Given the description of an element on the screen output the (x, y) to click on. 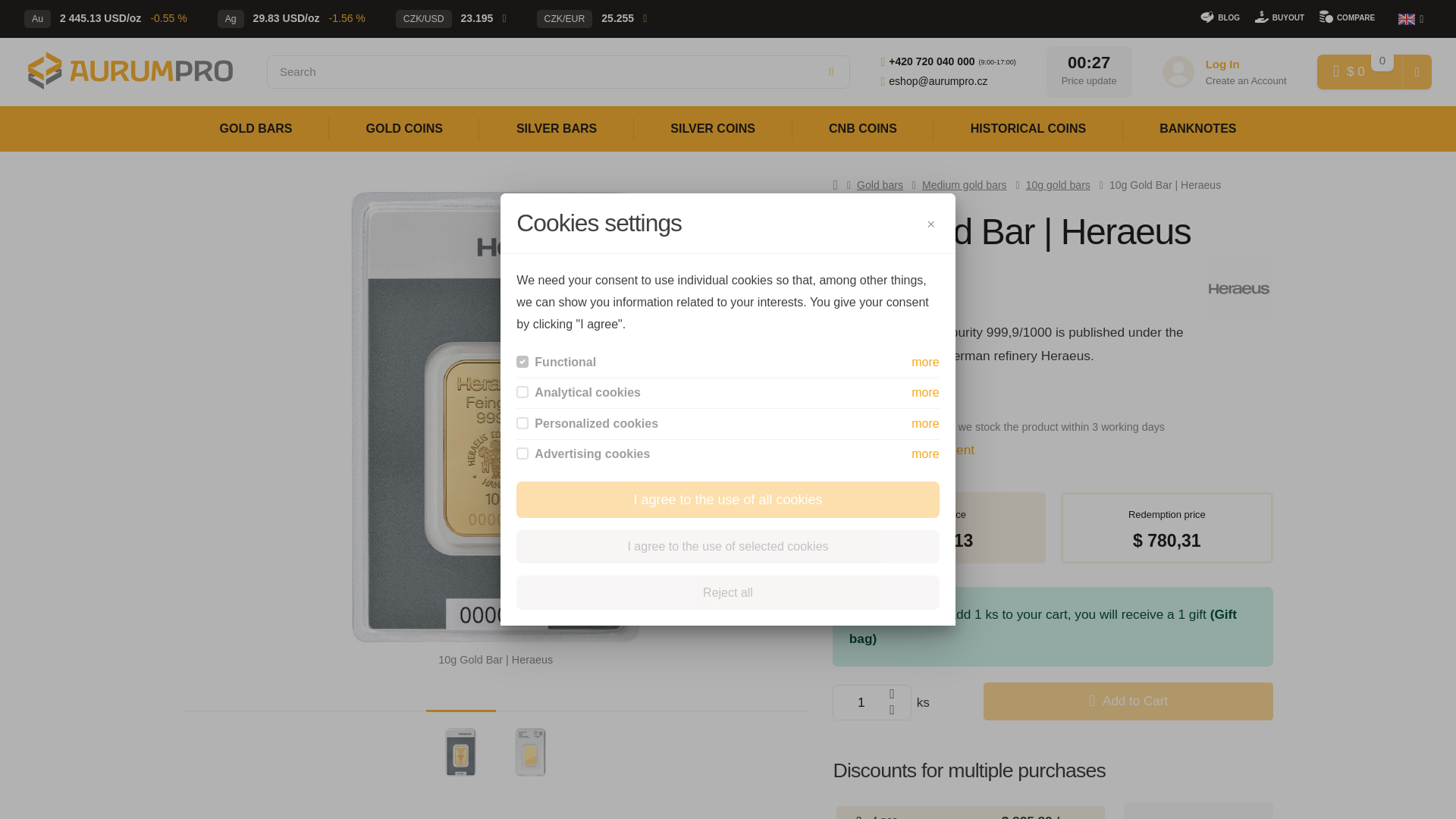
Compare products (1346, 15)
1 (871, 701)
0 item (1382, 60)
BUYOUT (1279, 15)
BLOG (1219, 15)
Products buyout (1279, 15)
Create an Account (1246, 79)
Log In (1222, 64)
Home (129, 71)
COMPARE (1346, 15)
Open menu (1410, 18)
Blog (1219, 15)
Go to Cart (1360, 71)
